Given the description of an element on the screen output the (x, y) to click on. 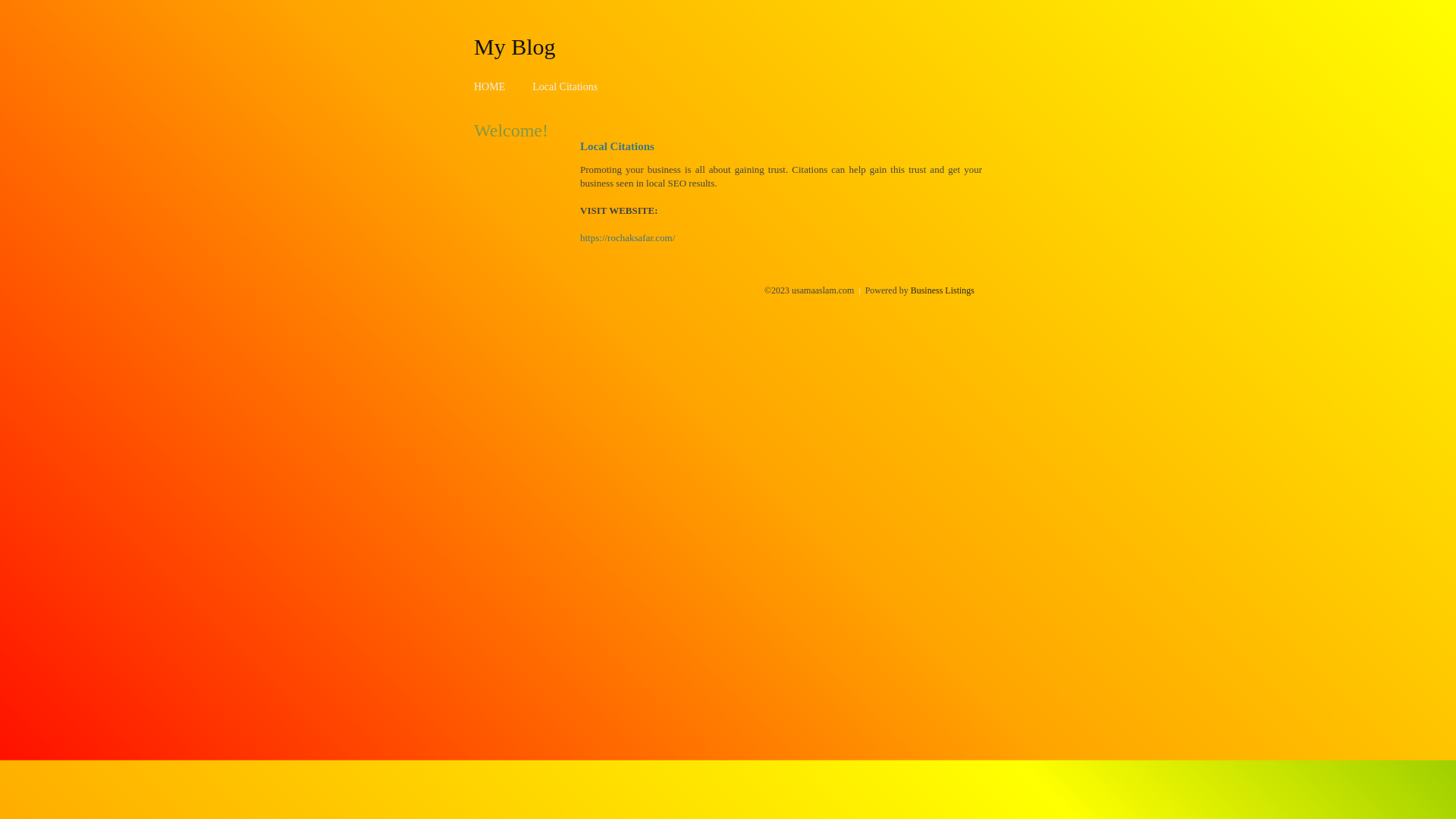
Local Citations Element type: text (564, 86)
My Blog Element type: text (514, 46)
Business Listings Element type: text (942, 290)
HOME Element type: text (489, 86)
https://rochaksafar.com/ Element type: text (627, 237)
